Given the description of an element on the screen output the (x, y) to click on. 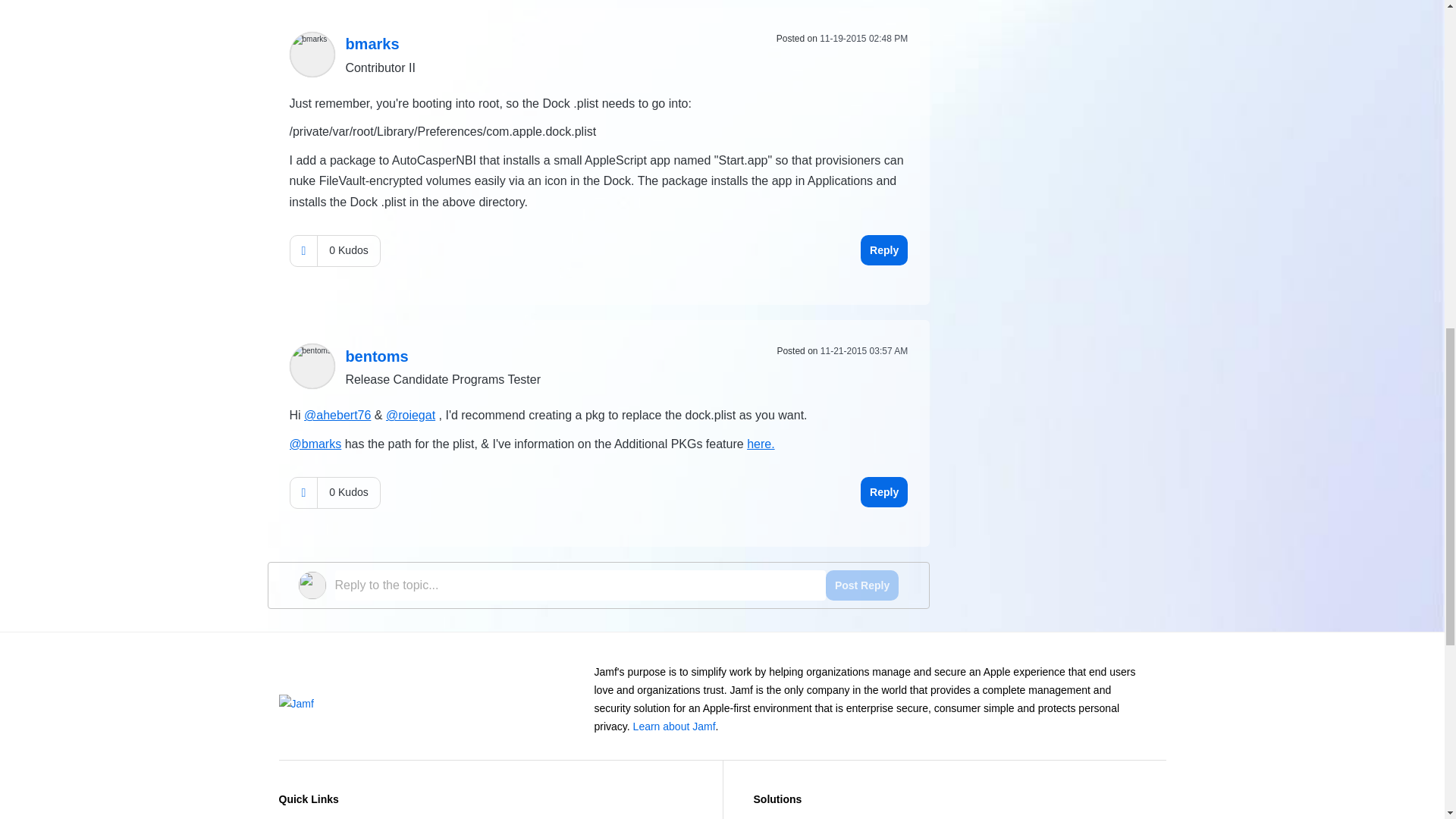
Click here to give kudos to this post. (303, 250)
bentoms (311, 366)
bmarks (371, 44)
bmarks (311, 53)
The total number of kudos this post has received. (347, 249)
